Given the description of an element on the screen output the (x, y) to click on. 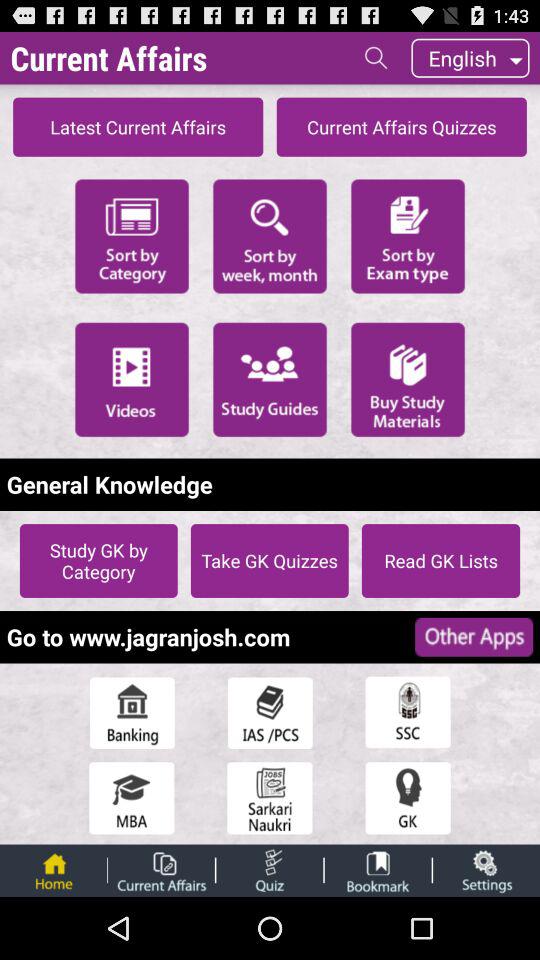
buy more study materials (407, 379)
